Given the description of an element on the screen output the (x, y) to click on. 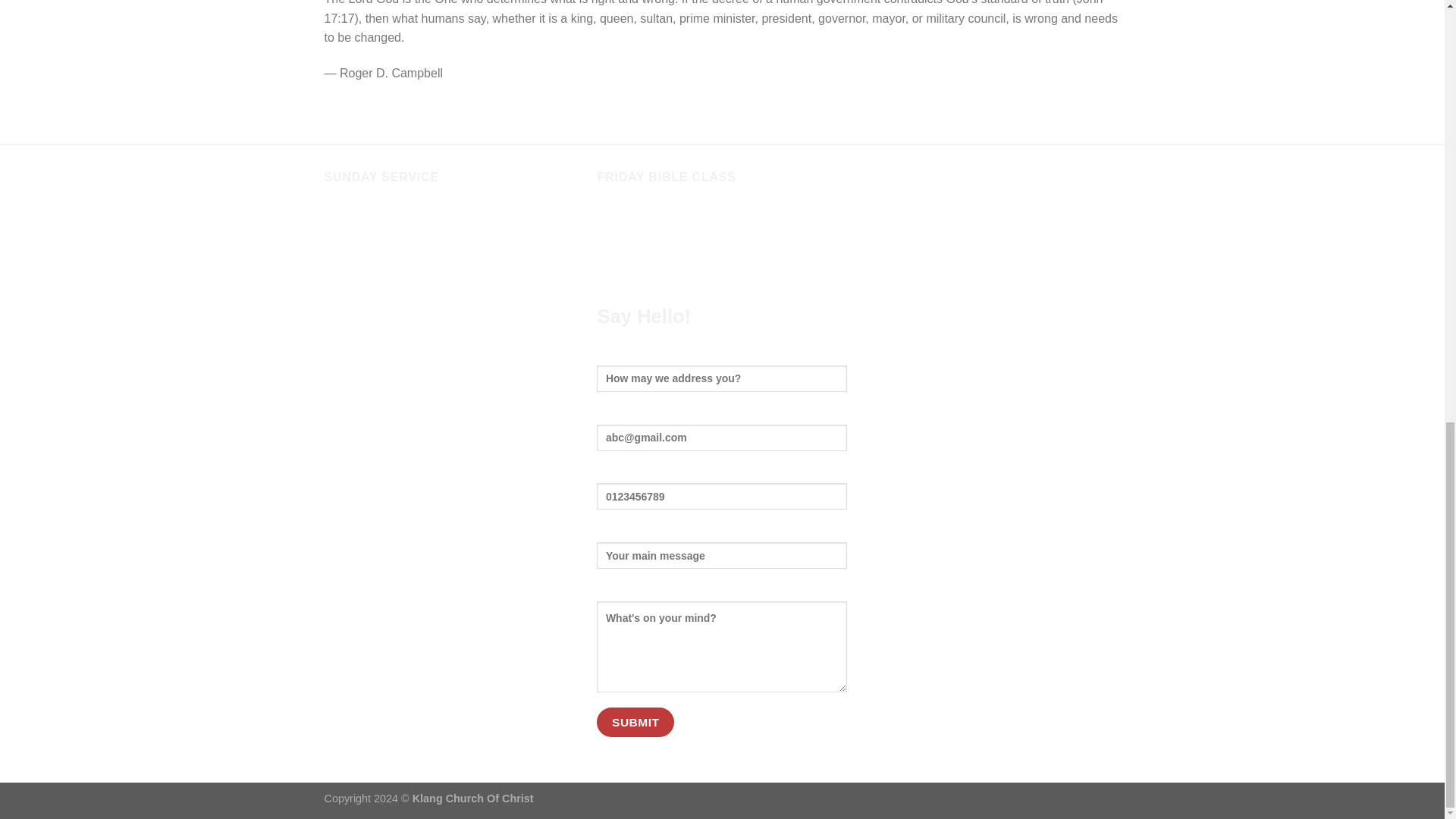
Submit (634, 722)
Submit (634, 722)
